Given the description of an element on the screen output the (x, y) to click on. 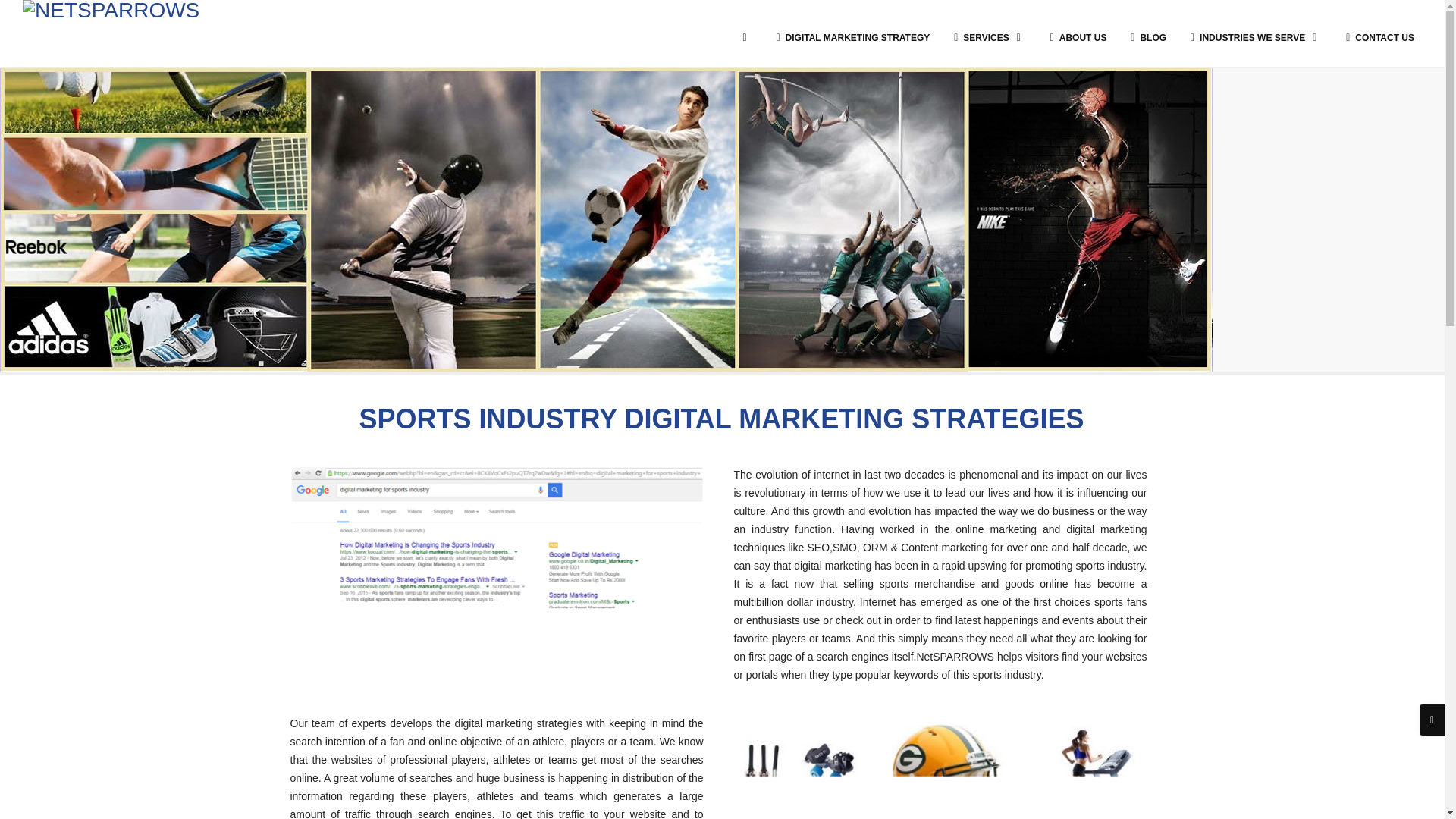
DIGITAL MARKETING STRATEGY (849, 33)
ABOUT US (1075, 33)
INDUSTRIES WE SERVE (1251, 33)
CONTACT US (1376, 33)
Sports Industry Digital Marketing Strategies (496, 540)
SERVICES (985, 33)
